Given the description of an element on the screen output the (x, y) to click on. 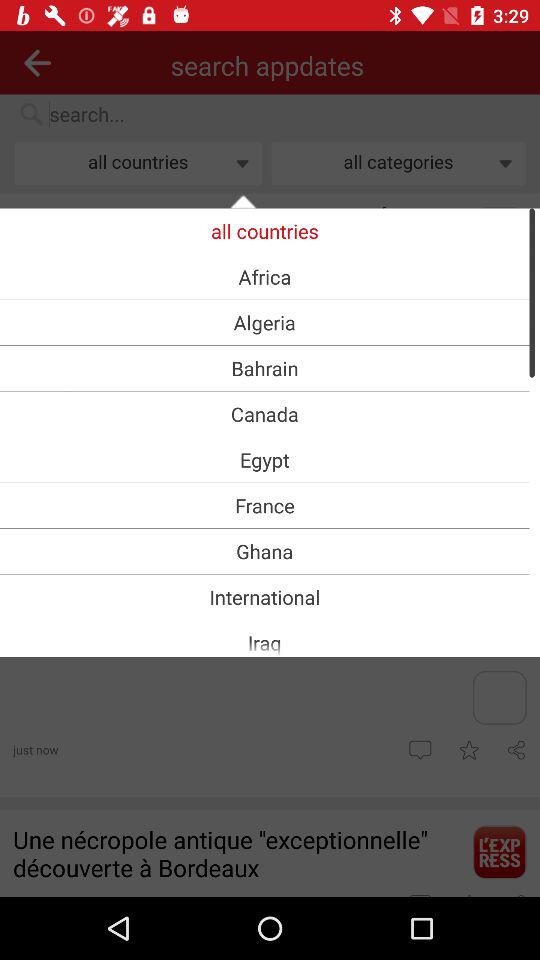
launch the icon above the france item (264, 459)
